Given the description of an element on the screen output the (x, y) to click on. 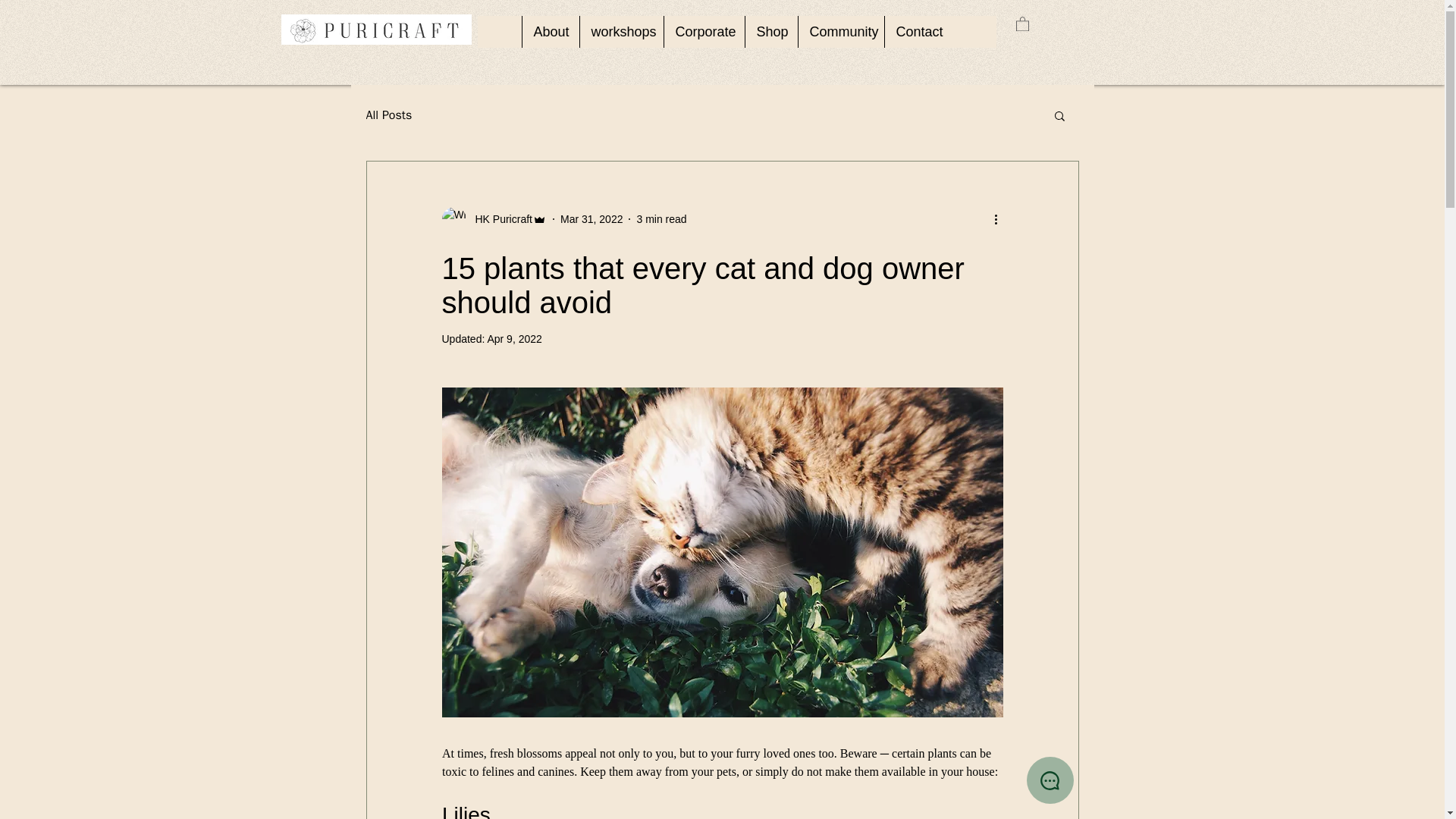
Apr 9, 2022 (513, 338)
HK Puricraft (498, 218)
Shop (770, 31)
All Posts (388, 115)
Corporate (703, 31)
Community (840, 31)
About (550, 31)
Contact (917, 31)
Mar 31, 2022 (591, 218)
3 min read (660, 218)
HK Puricraft (493, 218)
workshops (621, 31)
